Given the description of an element on the screen output the (x, y) to click on. 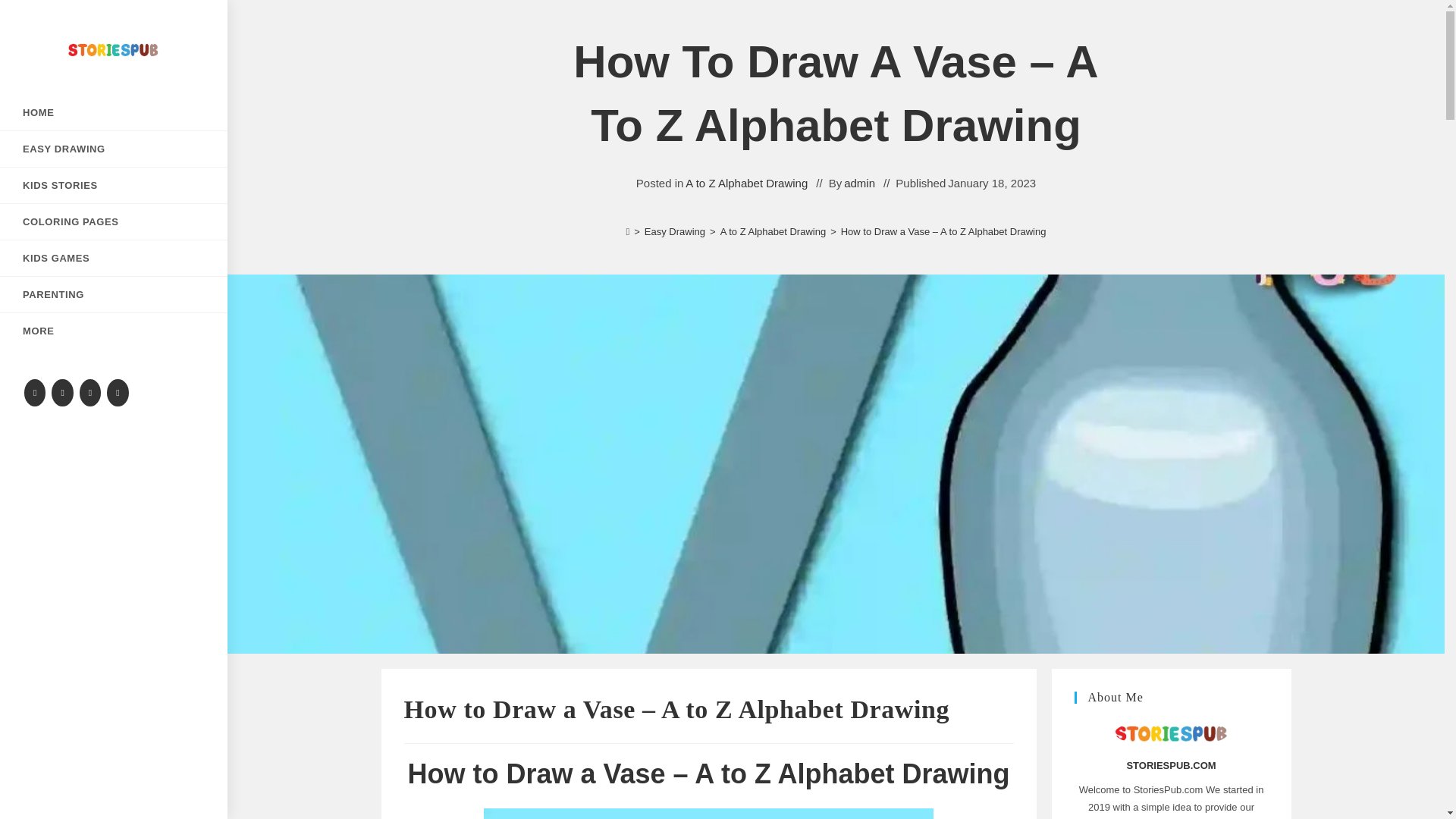
KIDS STORIES (113, 185)
PARENTING (113, 294)
COLORING PAGES (113, 221)
HOME (113, 112)
EASY DRAWING (113, 149)
MORE (113, 330)
KIDS GAMES (113, 258)
